Given the description of an element on the screen output the (x, y) to click on. 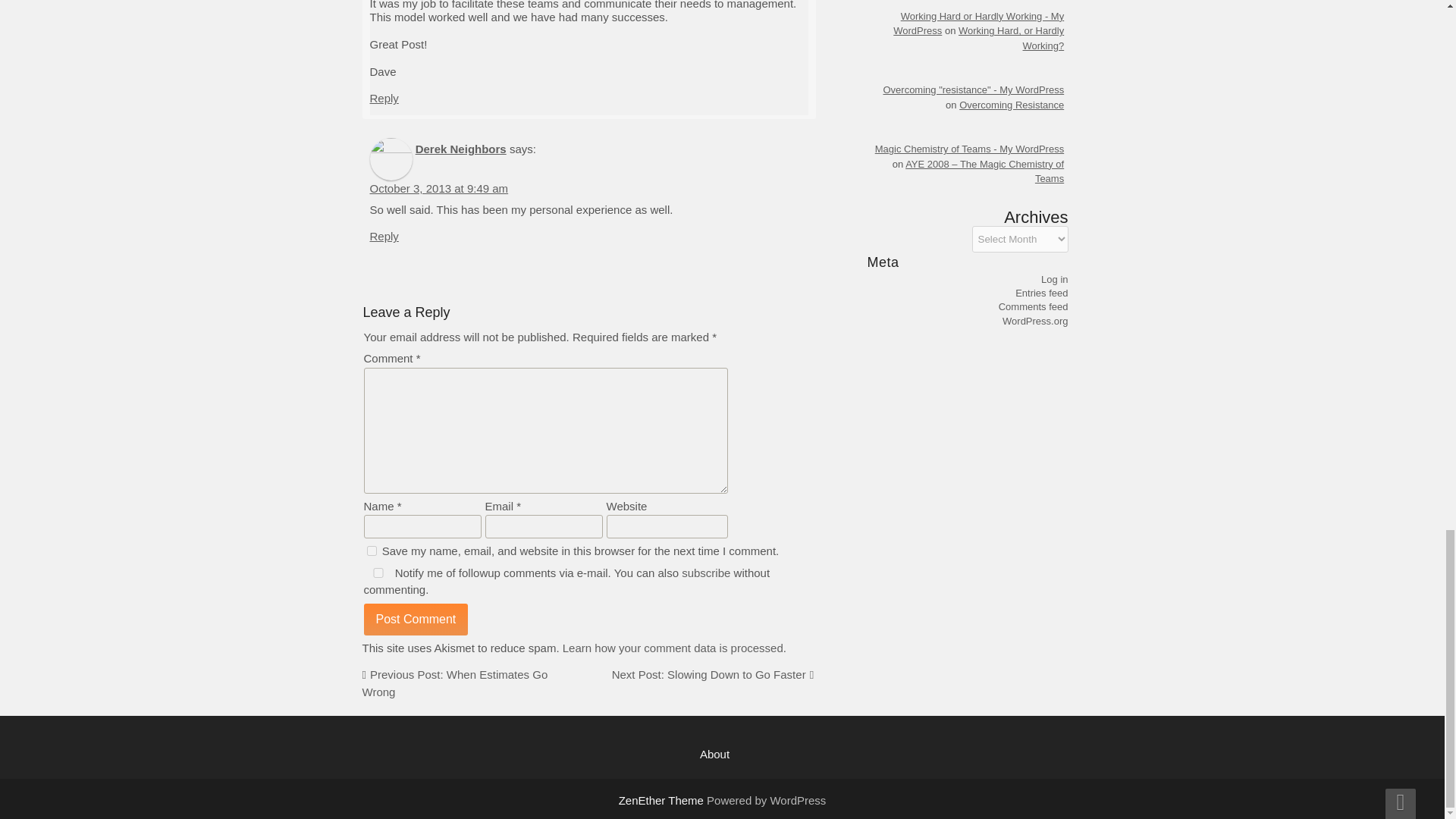
Next Post: Slowing Down to Go Faster (708, 674)
Previous Post: When Estimates Go Wrong (455, 683)
yes (378, 573)
Learn how your comment data is processed (672, 647)
Reply (383, 236)
Derek Neighbors (460, 148)
yes (371, 551)
Post Comment (416, 619)
October 3, 2013 at 9:49 am (438, 187)
subscribe (705, 572)
